Given the description of an element on the screen output the (x, y) to click on. 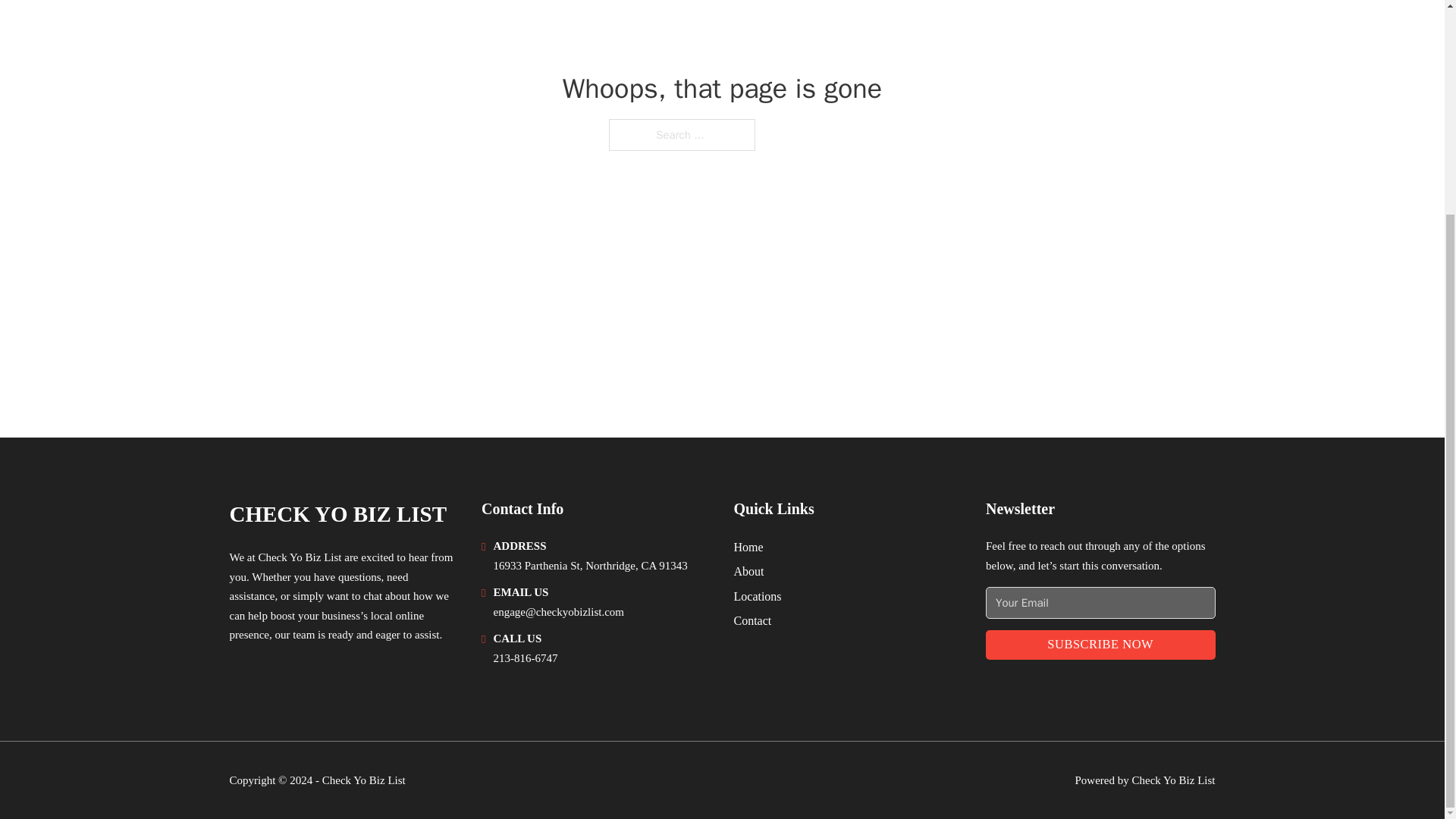
CHECK YO BIZ LIST (337, 514)
About (748, 571)
Contact (752, 620)
Locations (757, 596)
SUBSCRIBE NOW (1100, 644)
Home (747, 547)
